Given the description of an element on the screen output the (x, y) to click on. 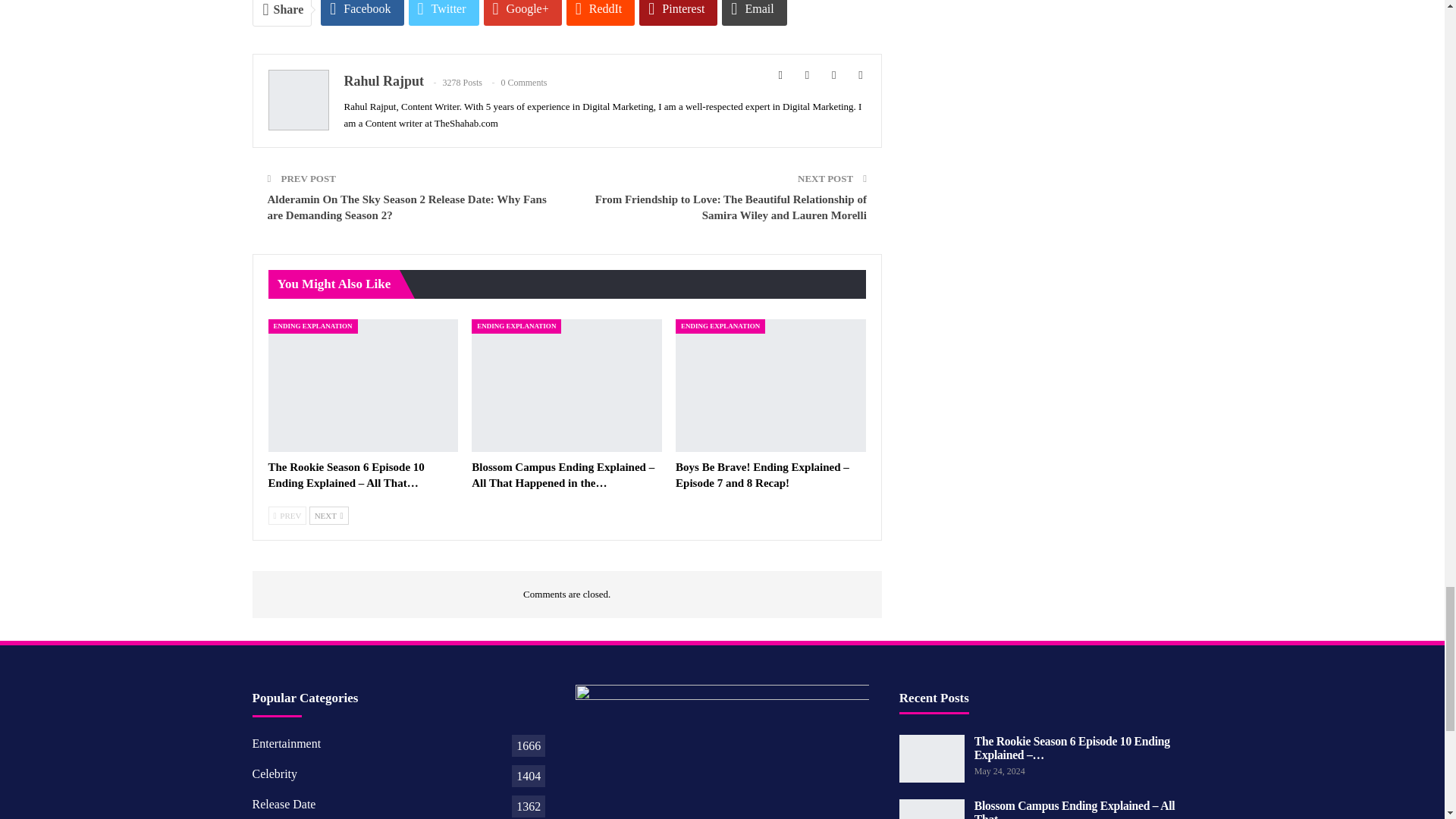
Previous (287, 515)
Twitter (444, 12)
Next (328, 515)
Facebook (361, 12)
